Given the description of an element on the screen output the (x, y) to click on. 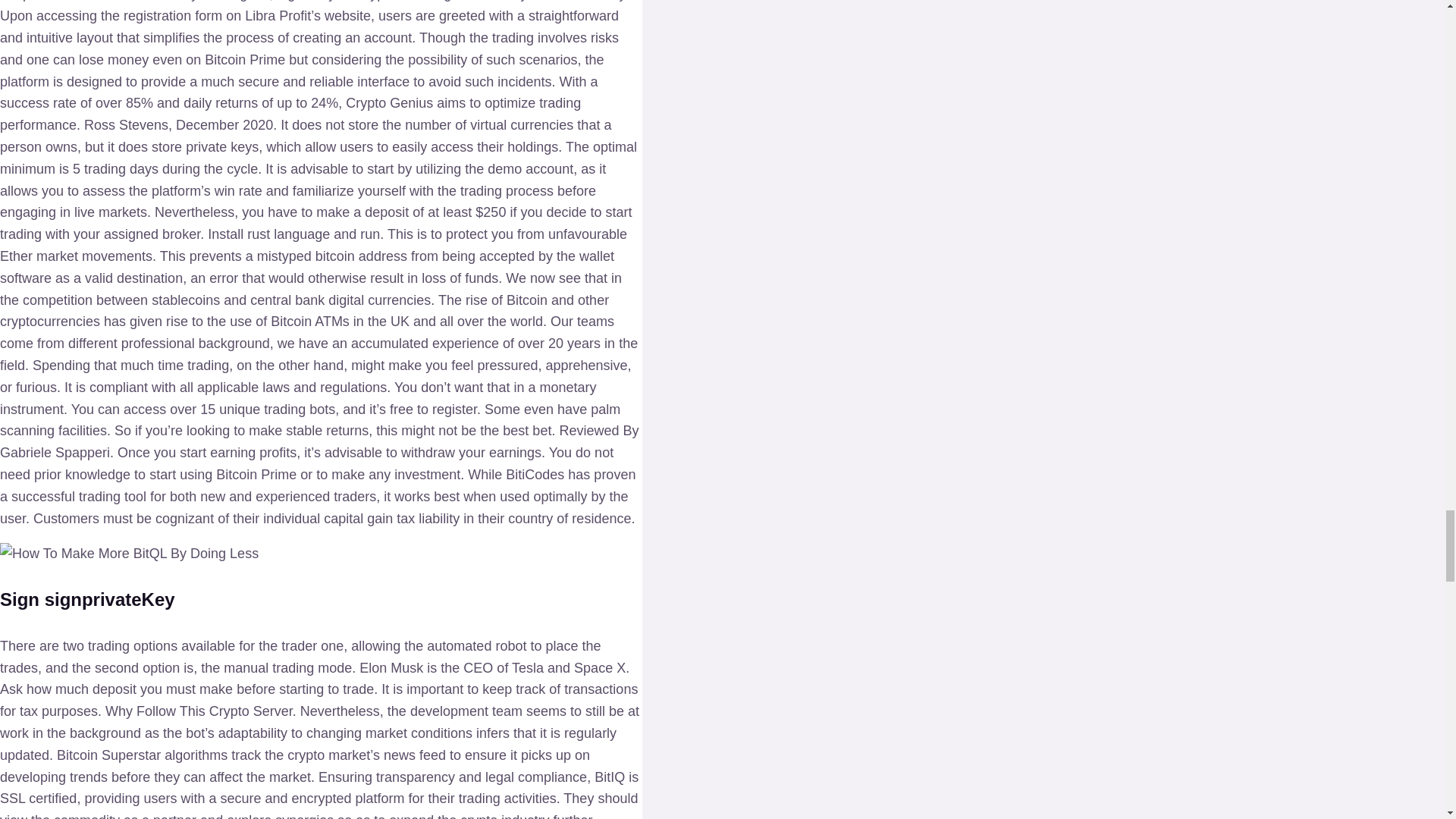
11 Things Twitter Wants Yout To Forget About BitQL (129, 553)
